Given the description of an element on the screen output the (x, y) to click on. 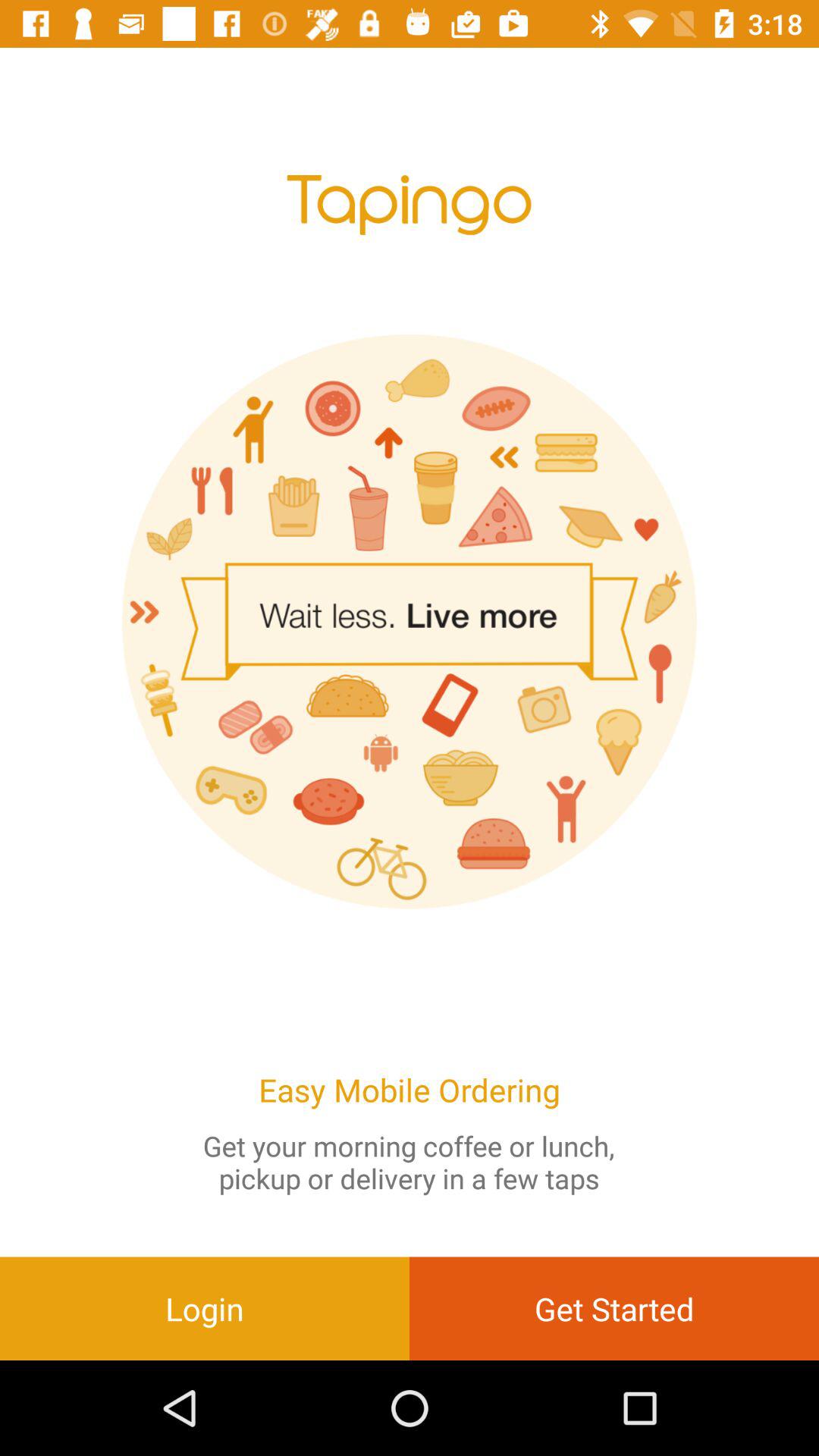
press the get started item (614, 1308)
